Given the description of an element on the screen output the (x, y) to click on. 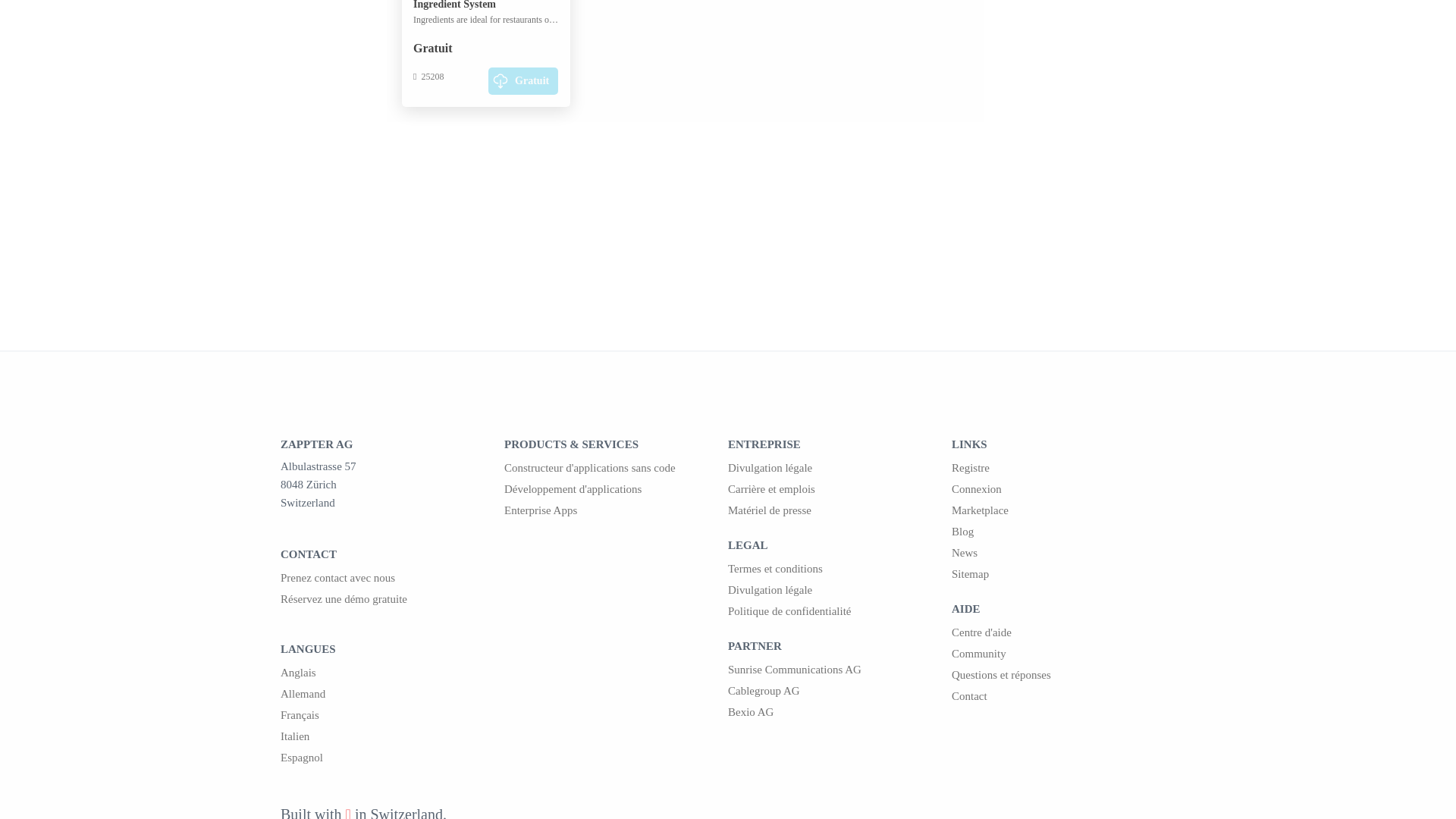
Zappter App Builder (615, 467)
Marketplace (1063, 509)
Blog (1063, 531)
News (1063, 552)
